Given the description of an element on the screen output the (x, y) to click on. 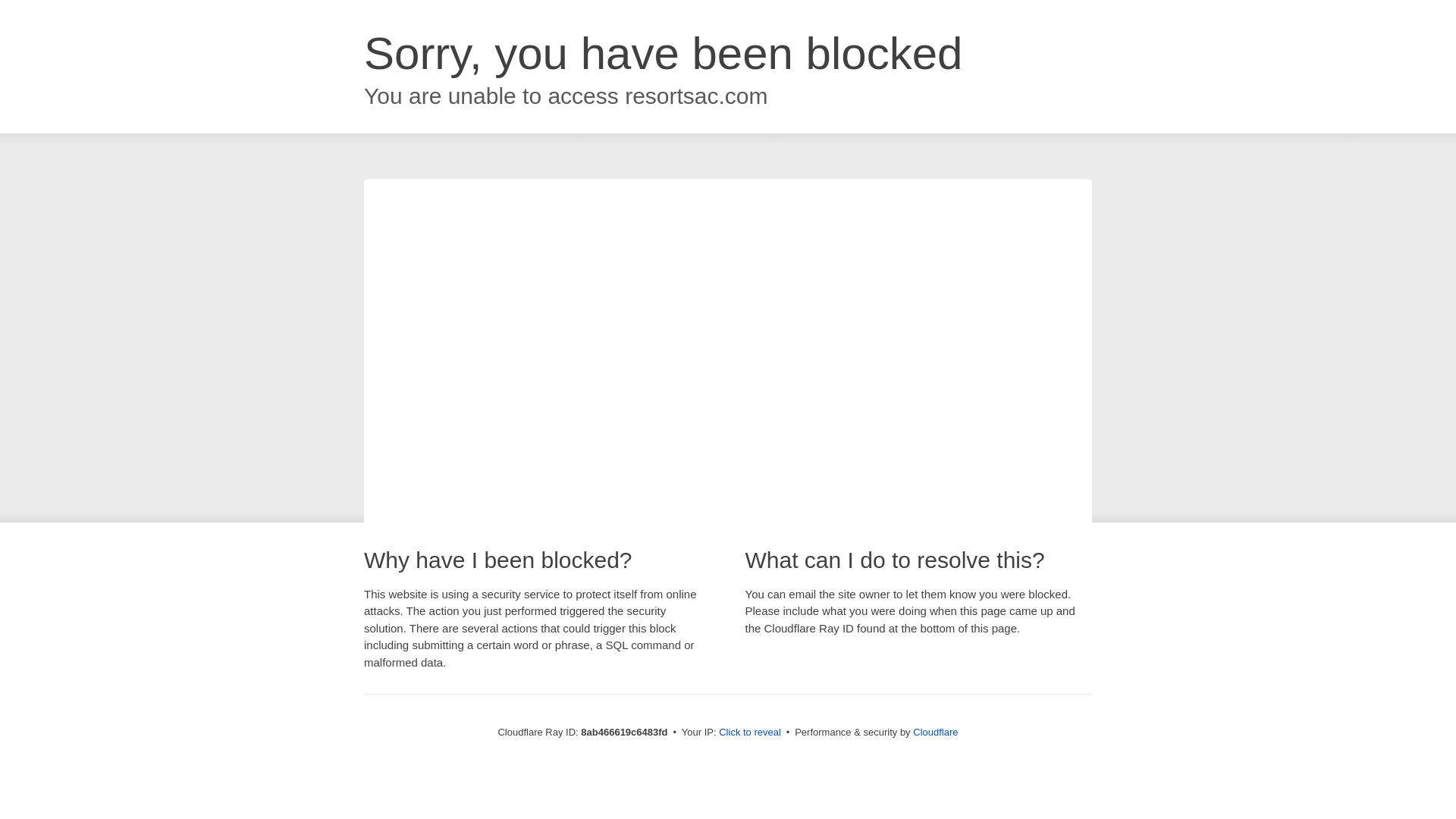
Click to reveal (749, 732)
Cloudflare (935, 731)
